Given the description of an element on the screen output the (x, y) to click on. 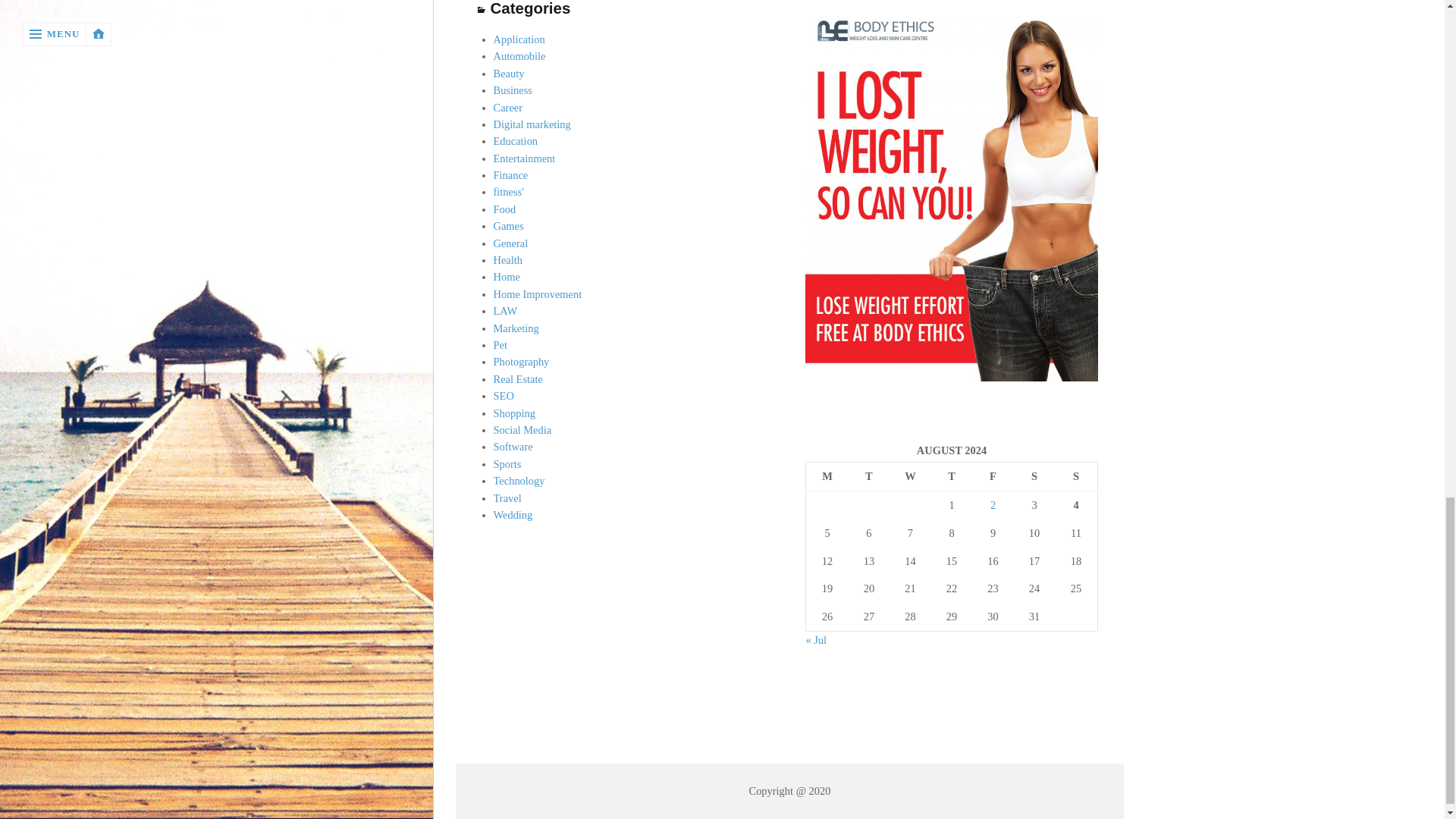
Pet (499, 345)
Photography (521, 361)
Automobile (519, 55)
General (510, 243)
Business (512, 90)
Health (507, 259)
Sports (507, 463)
Real Estate (518, 378)
Thursday (951, 475)
Shopping (514, 413)
Finance (510, 174)
Digital marketing (531, 123)
fitness' (508, 191)
Home (506, 276)
Wednesday (910, 475)
